Given the description of an element on the screen output the (x, y) to click on. 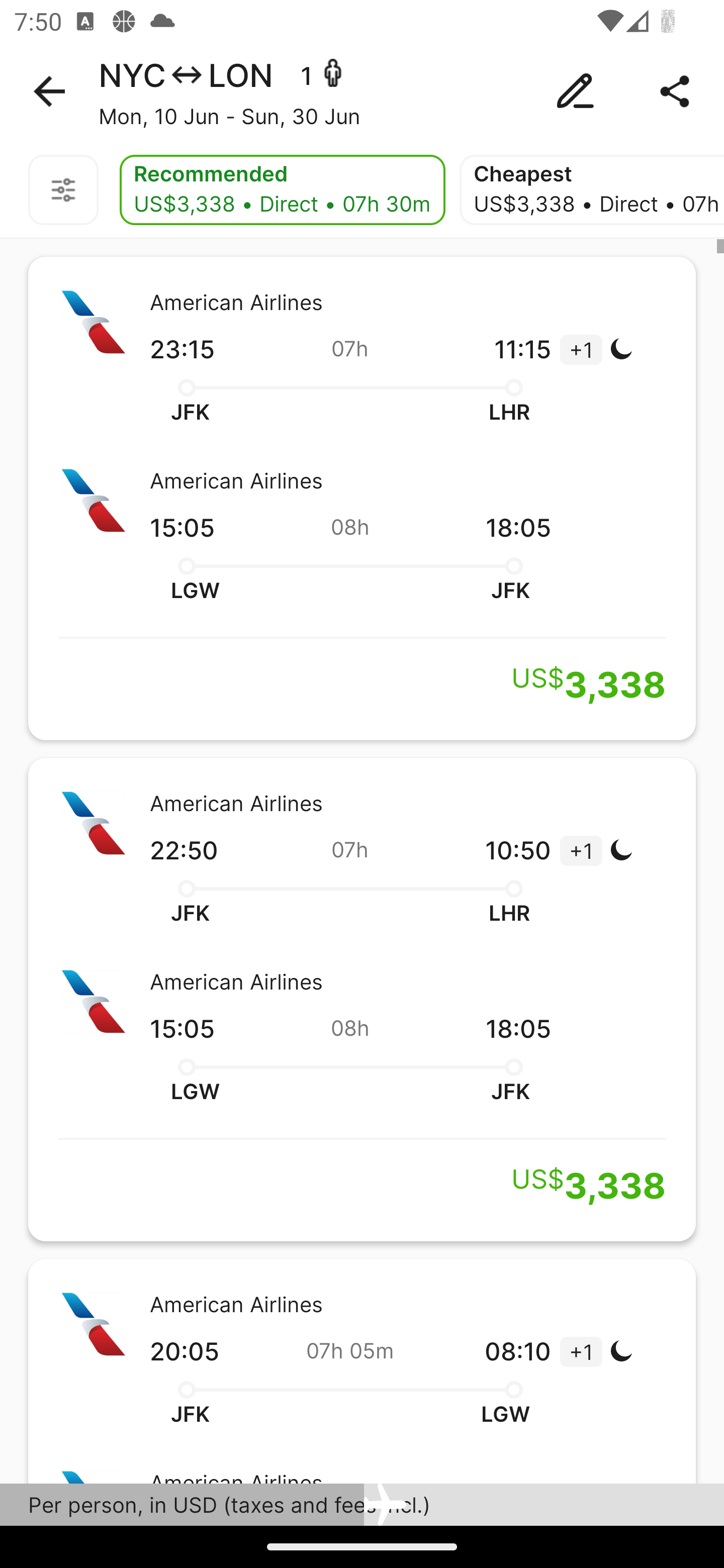
NYC LON   1 - Mon, 10 Jun - Sun, 30 Jun (361, 91)
Recommended  US$3,338 • Direct • 07h 30m (282, 190)
Cheapest US$3,338 • Direct • 07h 35m (591, 190)
